Given the description of an element on the screen output the (x, y) to click on. 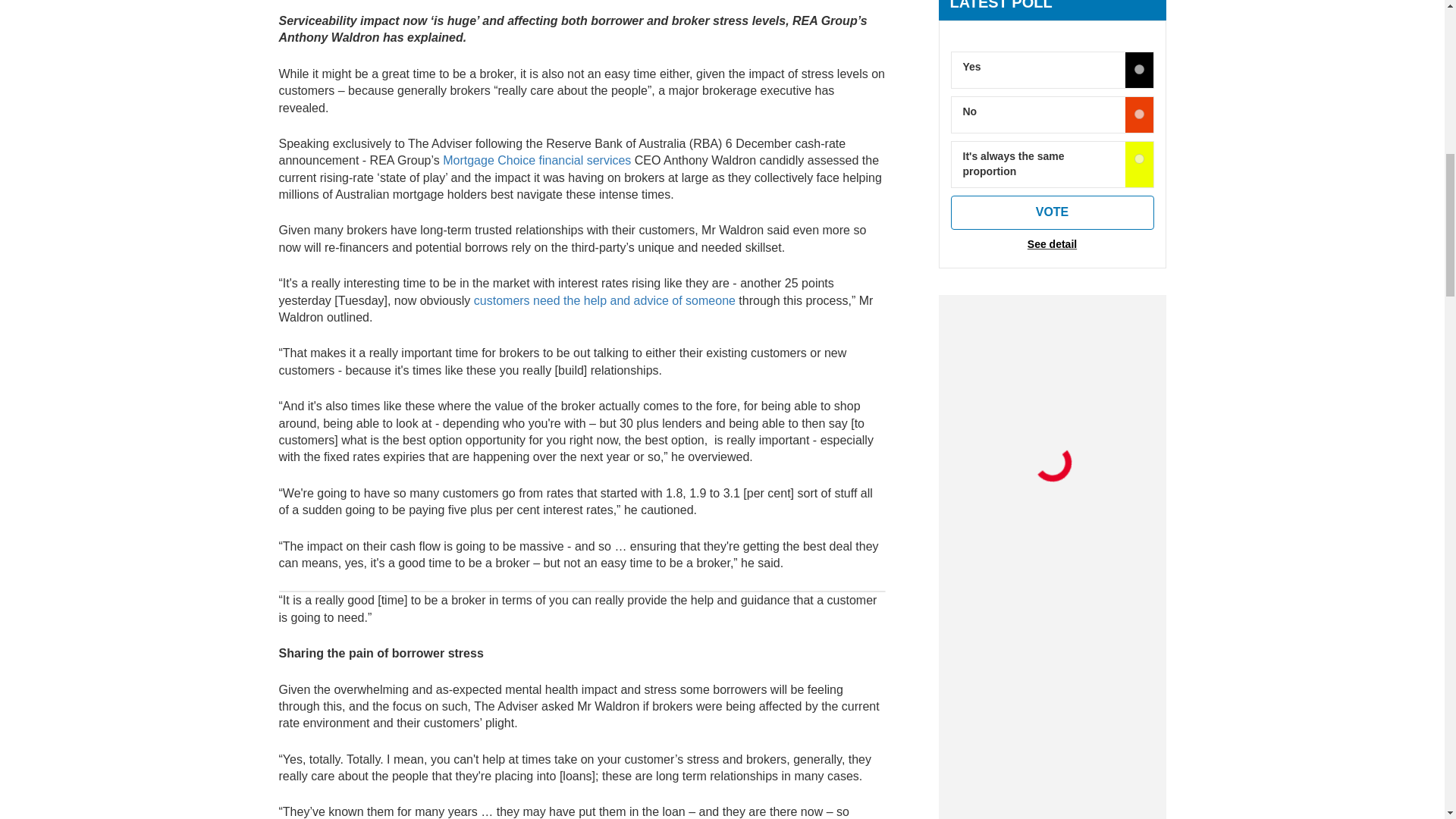
0 (1139, 69)
2 (1139, 158)
1 (1139, 113)
